Given the description of an element on the screen output the (x, y) to click on. 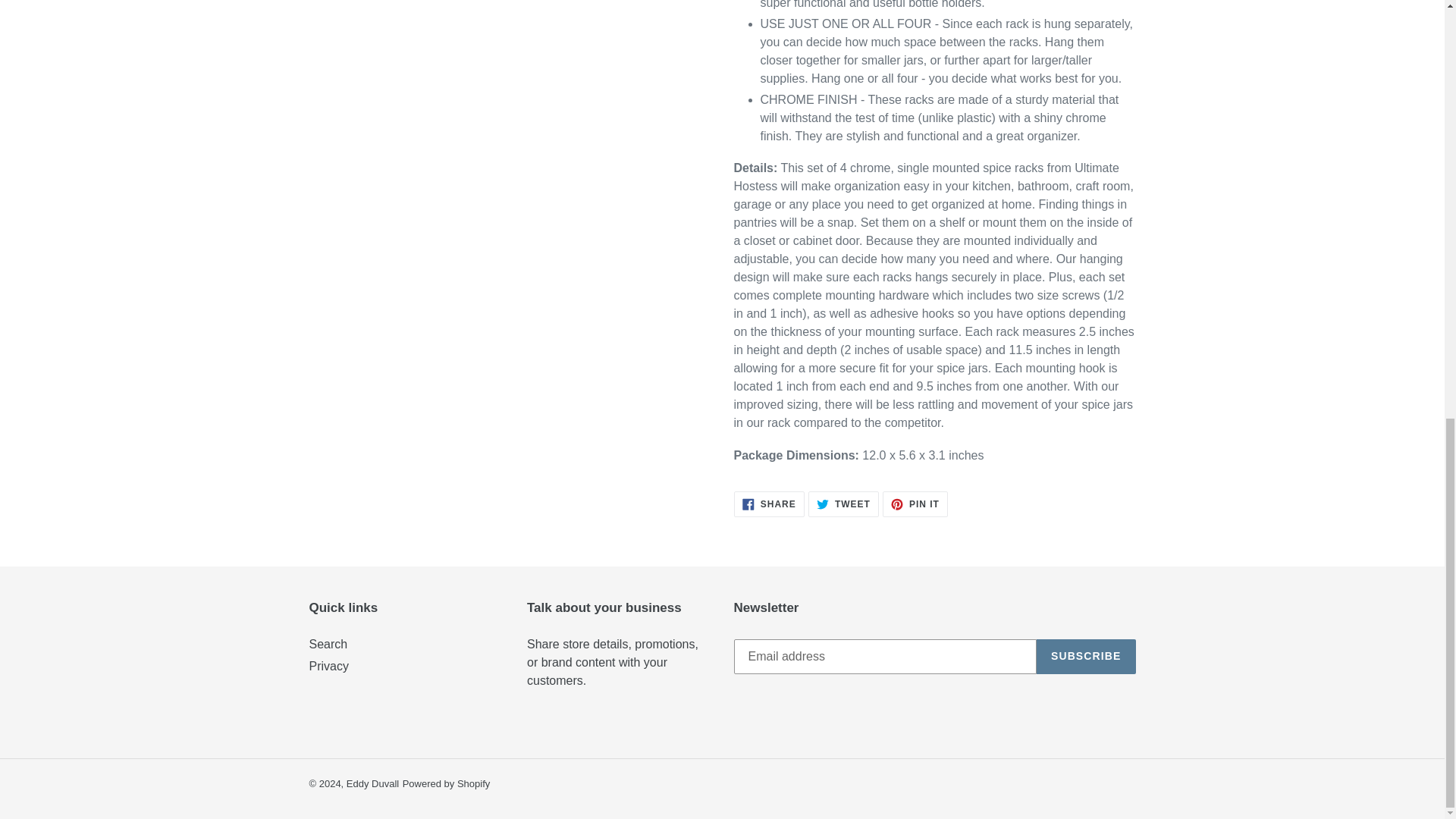
Eddy Duvall (769, 503)
Search (372, 783)
Privacy (327, 644)
Powered by Shopify (328, 666)
SUBSCRIBE (446, 783)
